Given the description of an element on the screen output the (x, y) to click on. 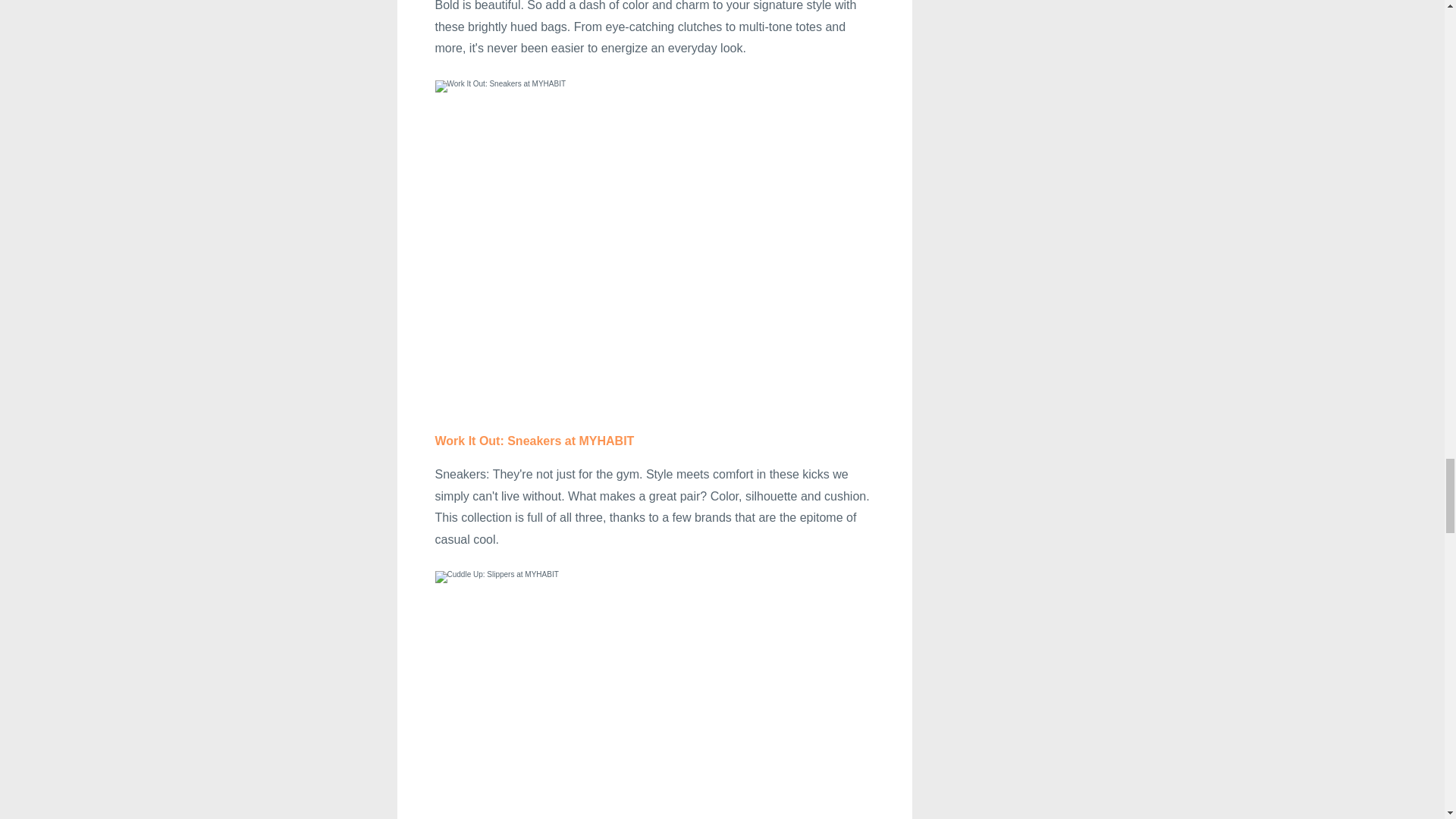
Work It Out: Sneakers at MYHABIT (534, 440)
